Given the description of an element on the screen output the (x, y) to click on. 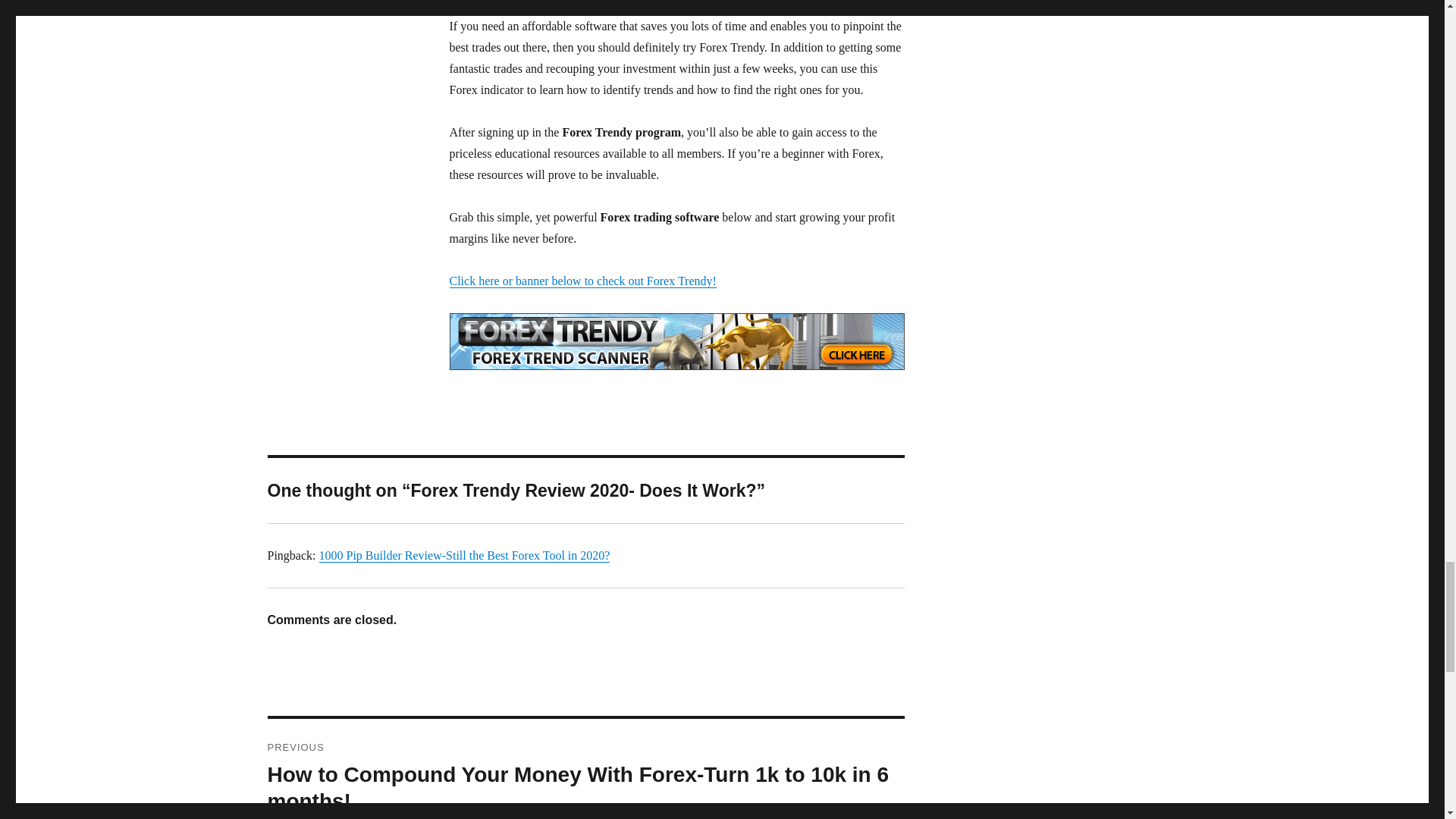
Click here or banner below to check out Forex Trendy! (582, 280)
1000 Pip Builder Review-Still the Best Forex Tool in 2020? (464, 554)
